Given the description of an element on the screen output the (x, y) to click on. 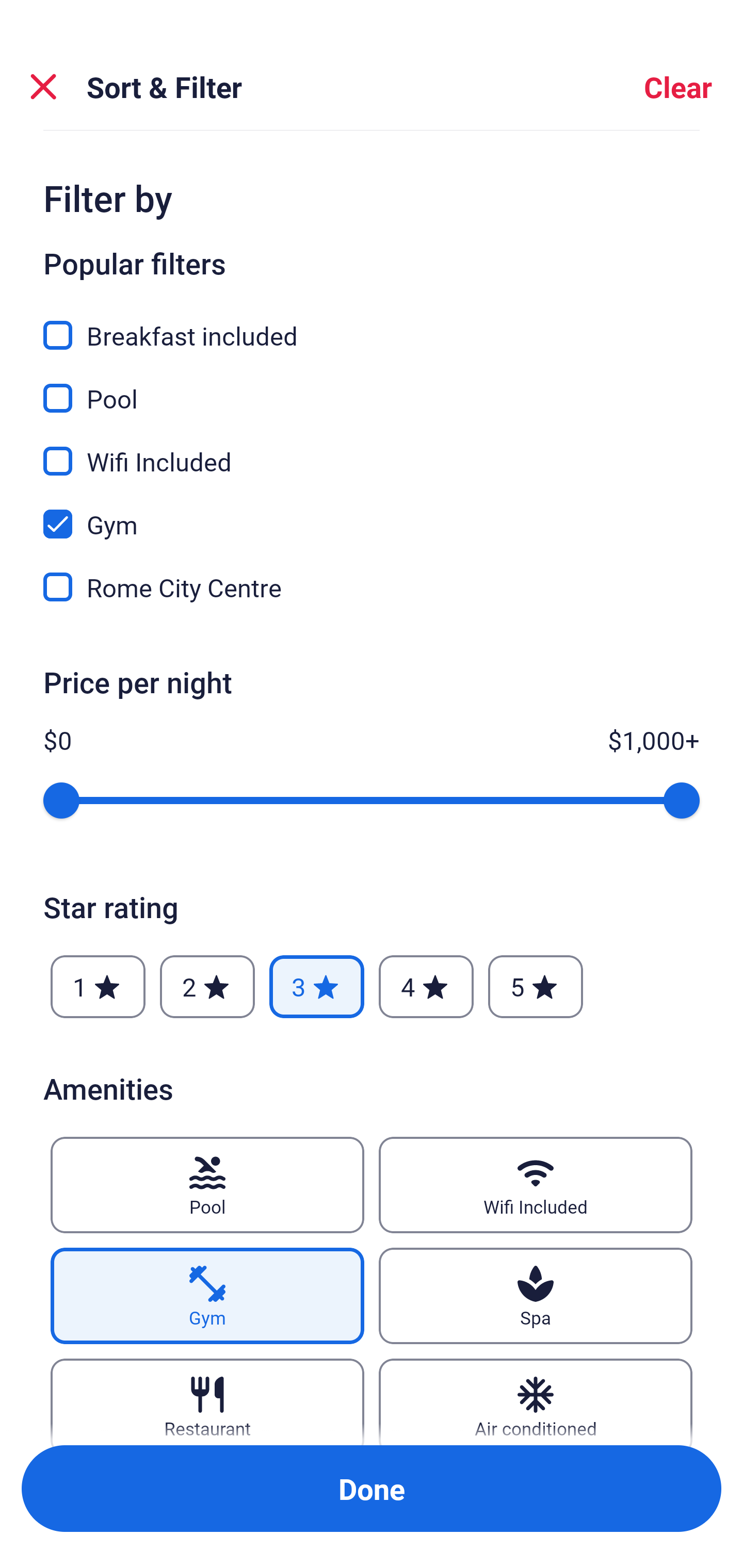
Close Sort and Filter (43, 86)
Clear (677, 86)
Breakfast included, Breakfast included (371, 324)
Pool, Pool (371, 386)
Wifi Included, Wifi Included (371, 449)
Gym, Gym (371, 512)
Rome City Centre, Rome City Centre (371, 587)
1 (97, 986)
2 (206, 986)
3 (316, 986)
4 (426, 986)
5 (535, 986)
Pool (207, 1185)
Wifi Included (535, 1185)
Gym (207, 1295)
Spa (535, 1295)
Restaurant (207, 1401)
Air conditioned (535, 1401)
Apply and close Sort and Filter Done (371, 1488)
